Given the description of an element on the screen output the (x, y) to click on. 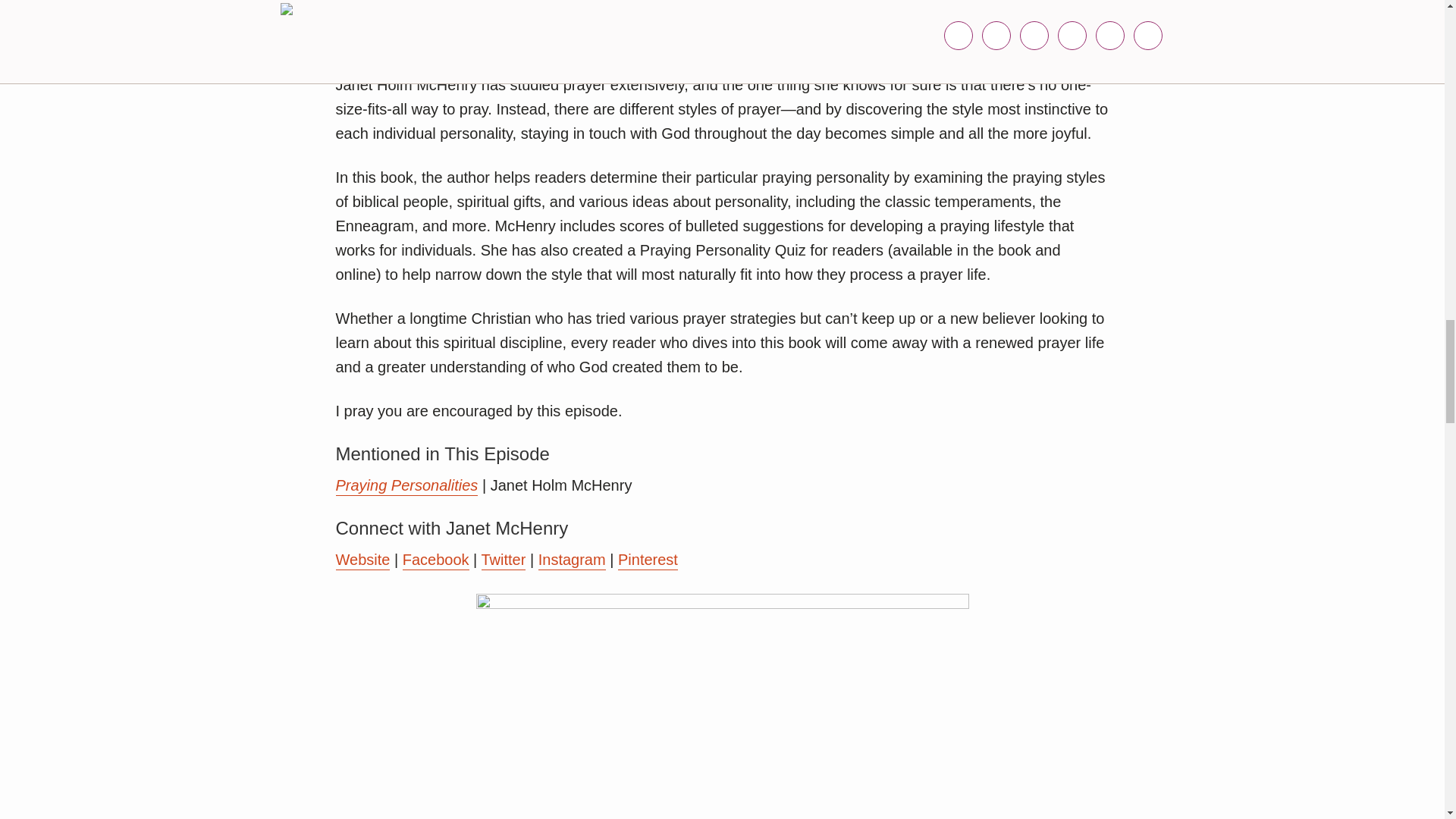
Praying Personalities (405, 486)
Facebook (435, 560)
Twitter (502, 560)
Instagram (571, 560)
Website (362, 560)
what do you really want? - cayla craft - Tricia Goyer (722, 705)
Pinterest (647, 560)
